Given the description of an element on the screen output the (x, y) to click on. 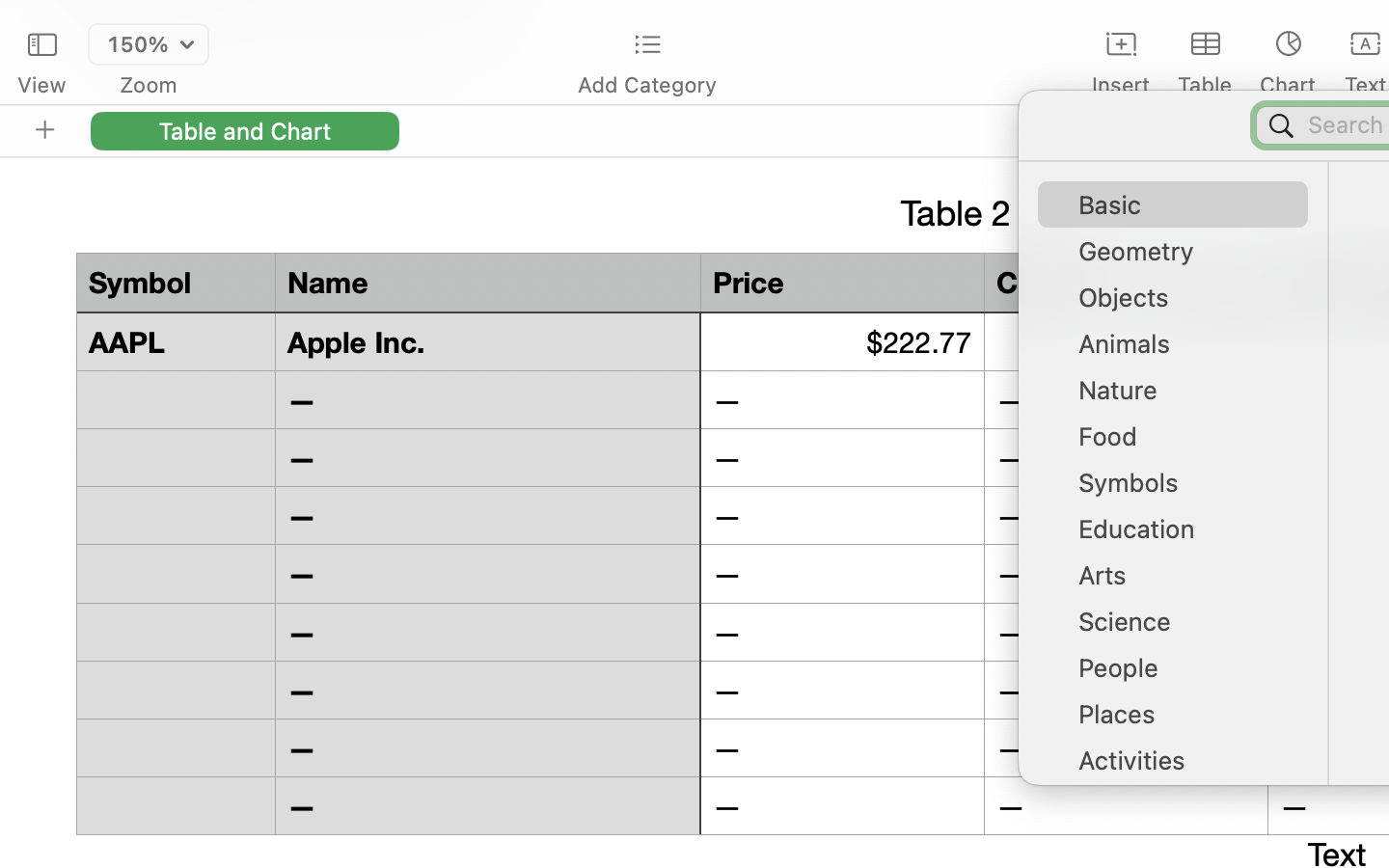
Symbols Element type: AXStaticText (1182, 489)
Food Element type: AXStaticText (1182, 443)
Activities Element type: AXStaticText (1182, 767)
Untitled Element type: AXStaticText (1334, 24)
View Element type: AXStaticText (41, 84)
